Given the description of an element on the screen output the (x, y) to click on. 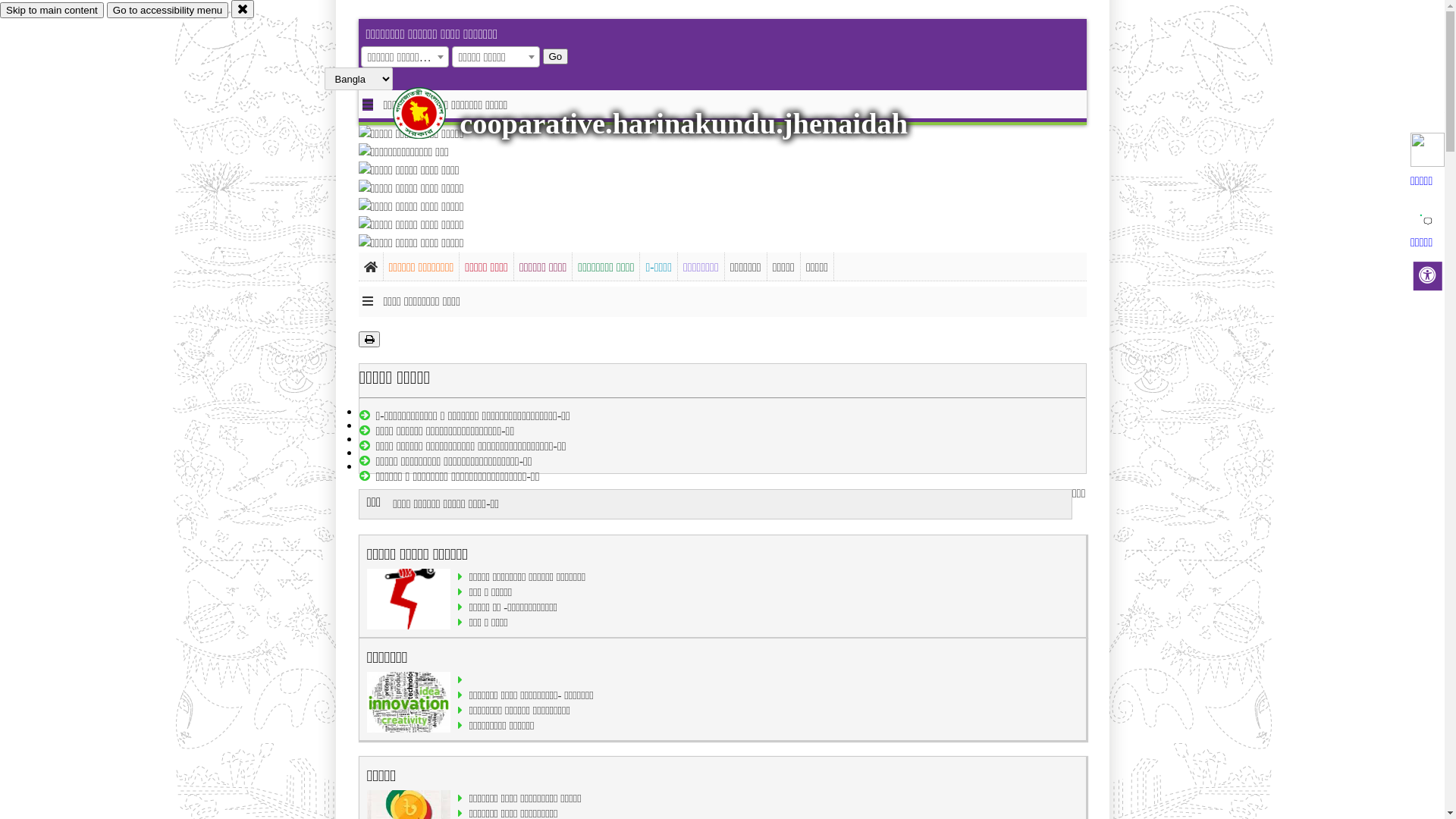

                
             Element type: hover (431, 112)
Skip to main content Element type: text (51, 10)
cooparative.harinakundu.jhenaidah Element type: text (683, 123)
Go Element type: text (555, 56)
close Element type: hover (242, 9)
Go to accessibility menu Element type: text (167, 10)
